Given the description of an element on the screen output the (x, y) to click on. 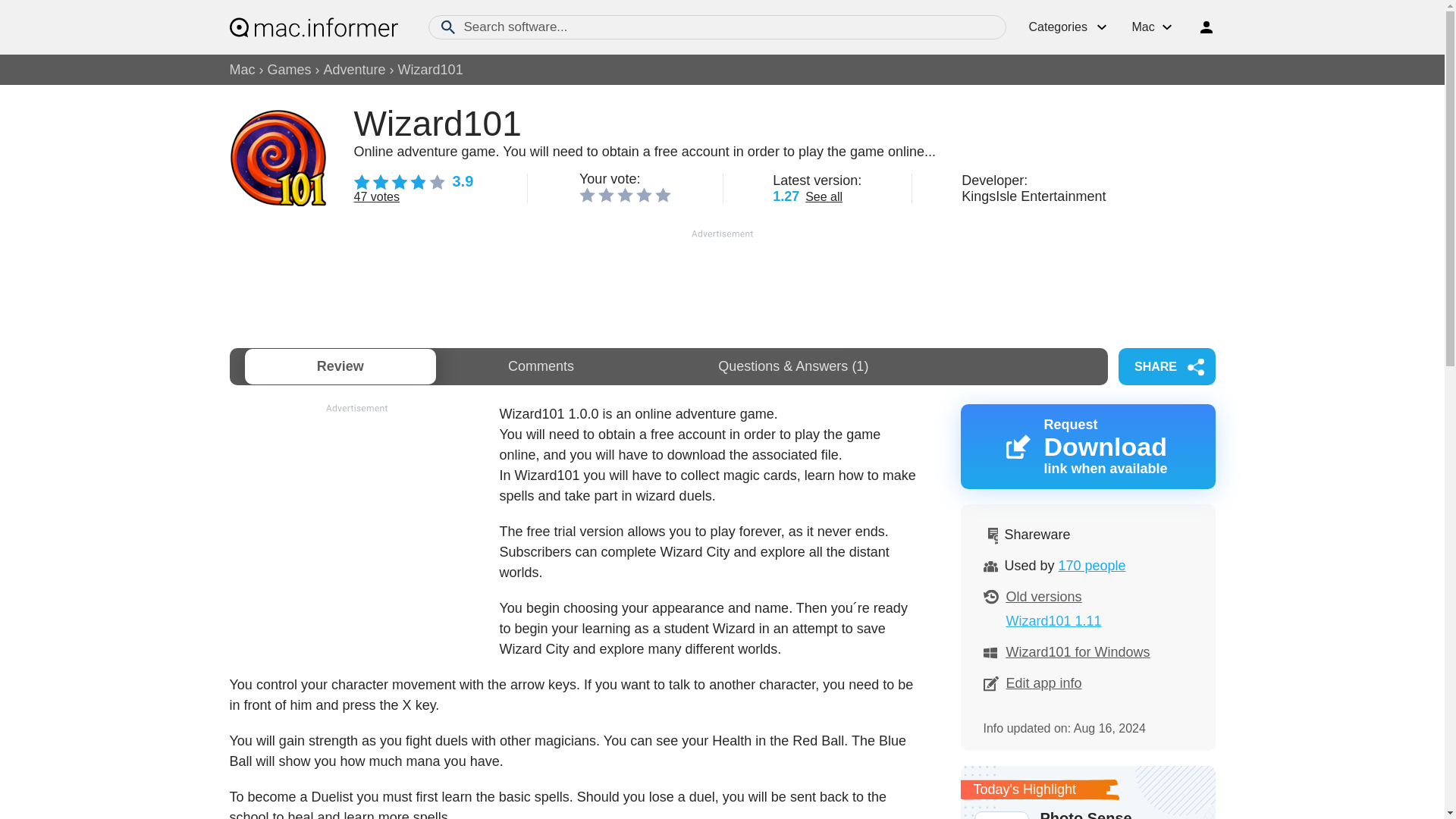
2 (605, 193)
Wizard101 (430, 69)
Review (339, 366)
Search software... (717, 27)
Old versions (1043, 596)
Photo Sense (1087, 812)
Request download link when available (1086, 446)
SHARE (1166, 366)
47 votes (375, 196)
